Given the description of an element on the screen output the (x, y) to click on. 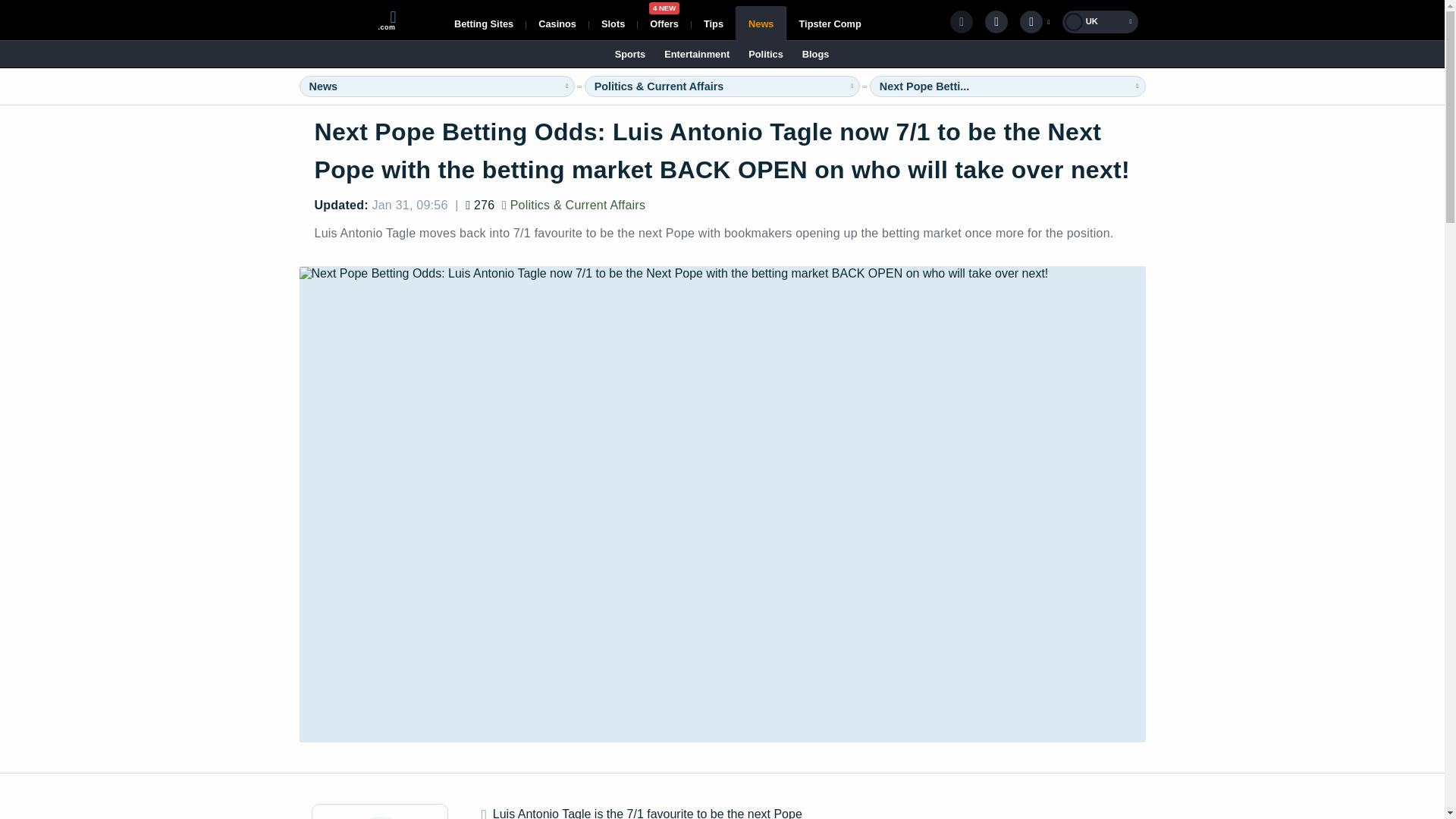
Tipster Comp (663, 23)
Casinos (829, 23)
News (556, 23)
Tips (761, 23)
Next Pope Betti... (713, 23)
News (924, 86)
Slots (322, 86)
